Given the description of an element on the screen output the (x, y) to click on. 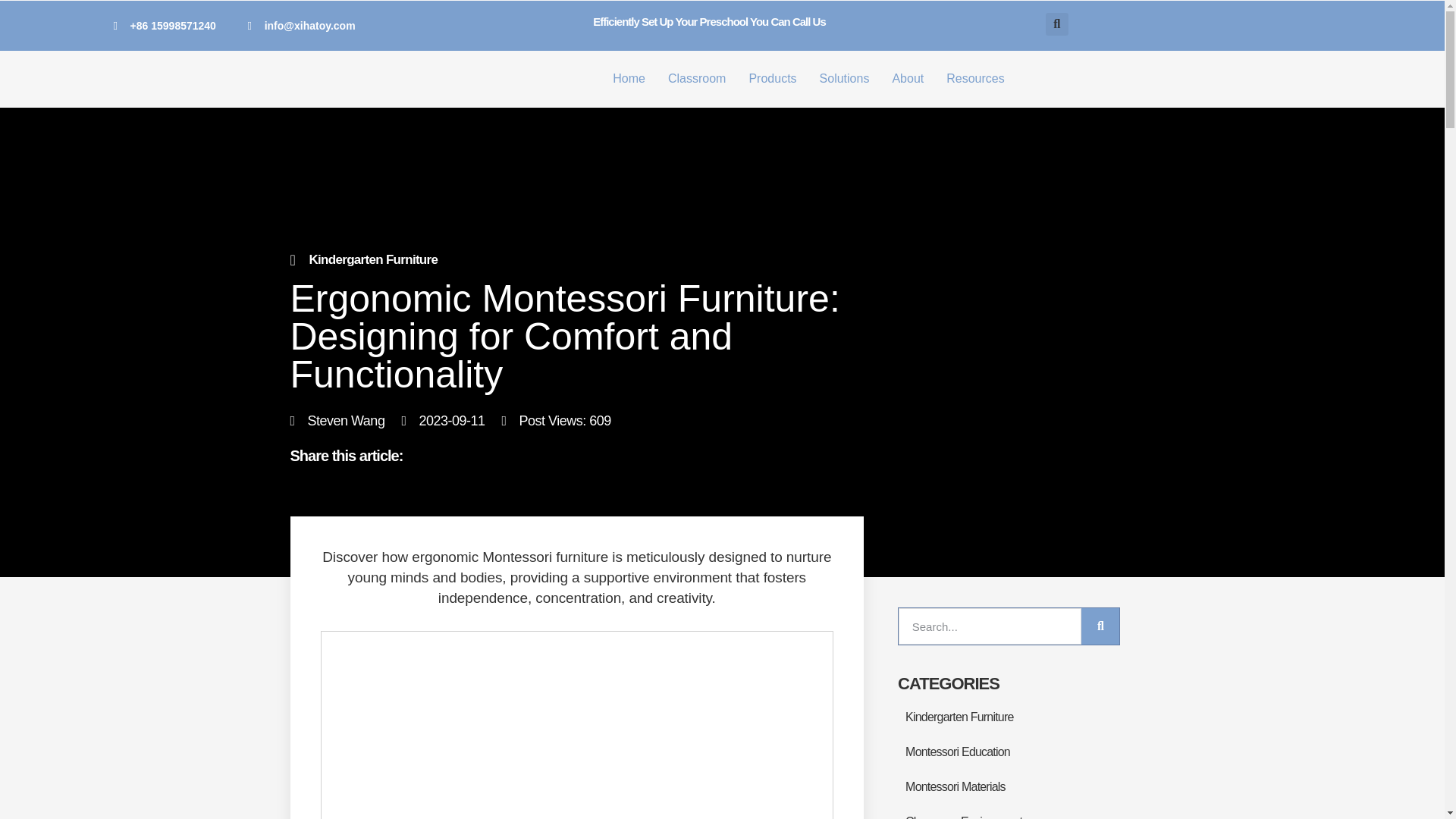
Home (628, 78)
Solutions (844, 78)
Products (772, 78)
Classroom (697, 78)
